Given the description of an element on the screen output the (x, y) to click on. 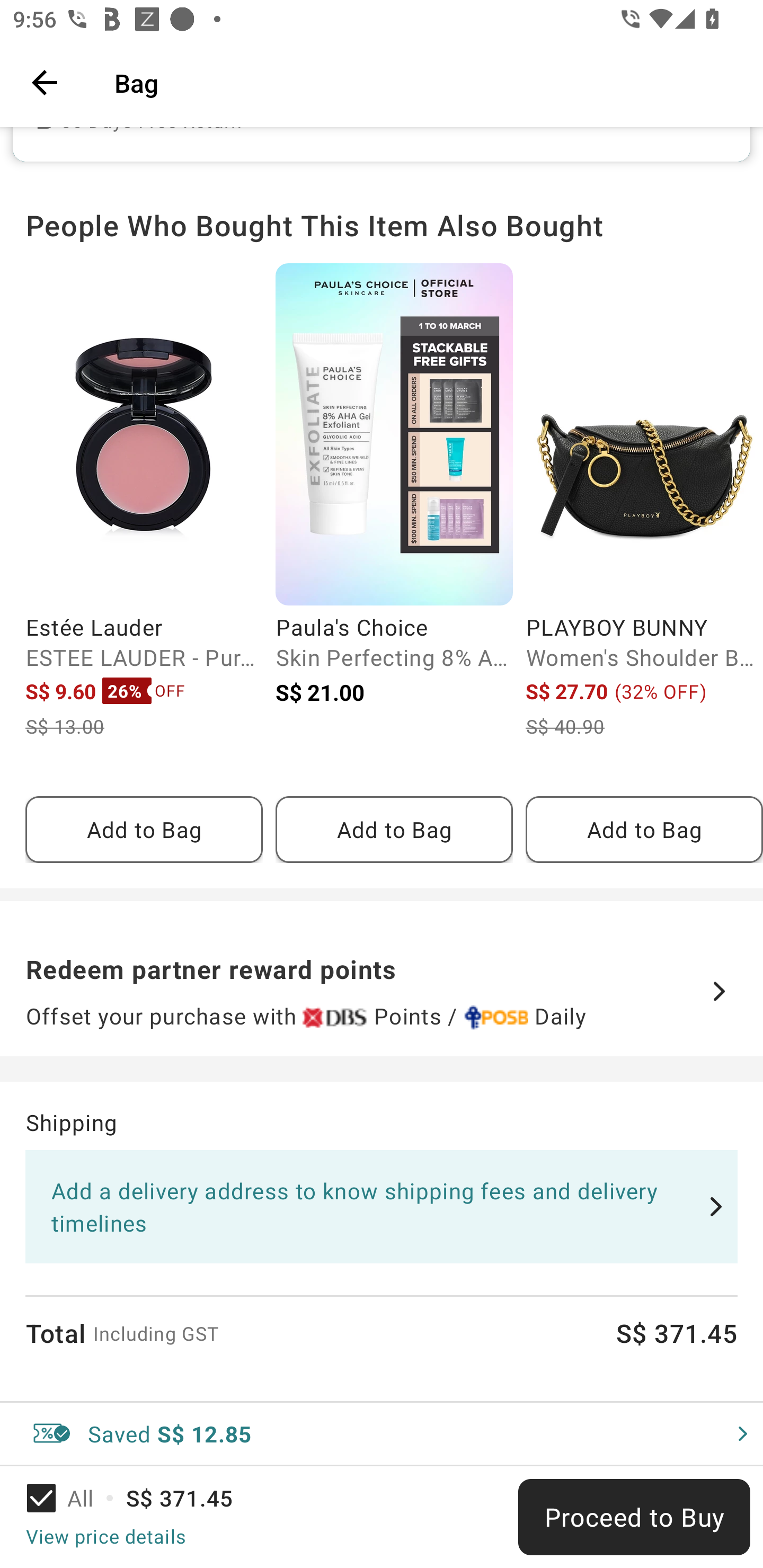
Navigate up (44, 82)
Bag (426, 82)
Add to Bag (143, 829)
Add to Bag (393, 829)
Add to Bag (644, 829)
Saved S$ 12.85 (381, 1433)
All (72, 1497)
Proceed to Buy (634, 1516)
View price details (105, 1535)
